Given the description of an element on the screen output the (x, y) to click on. 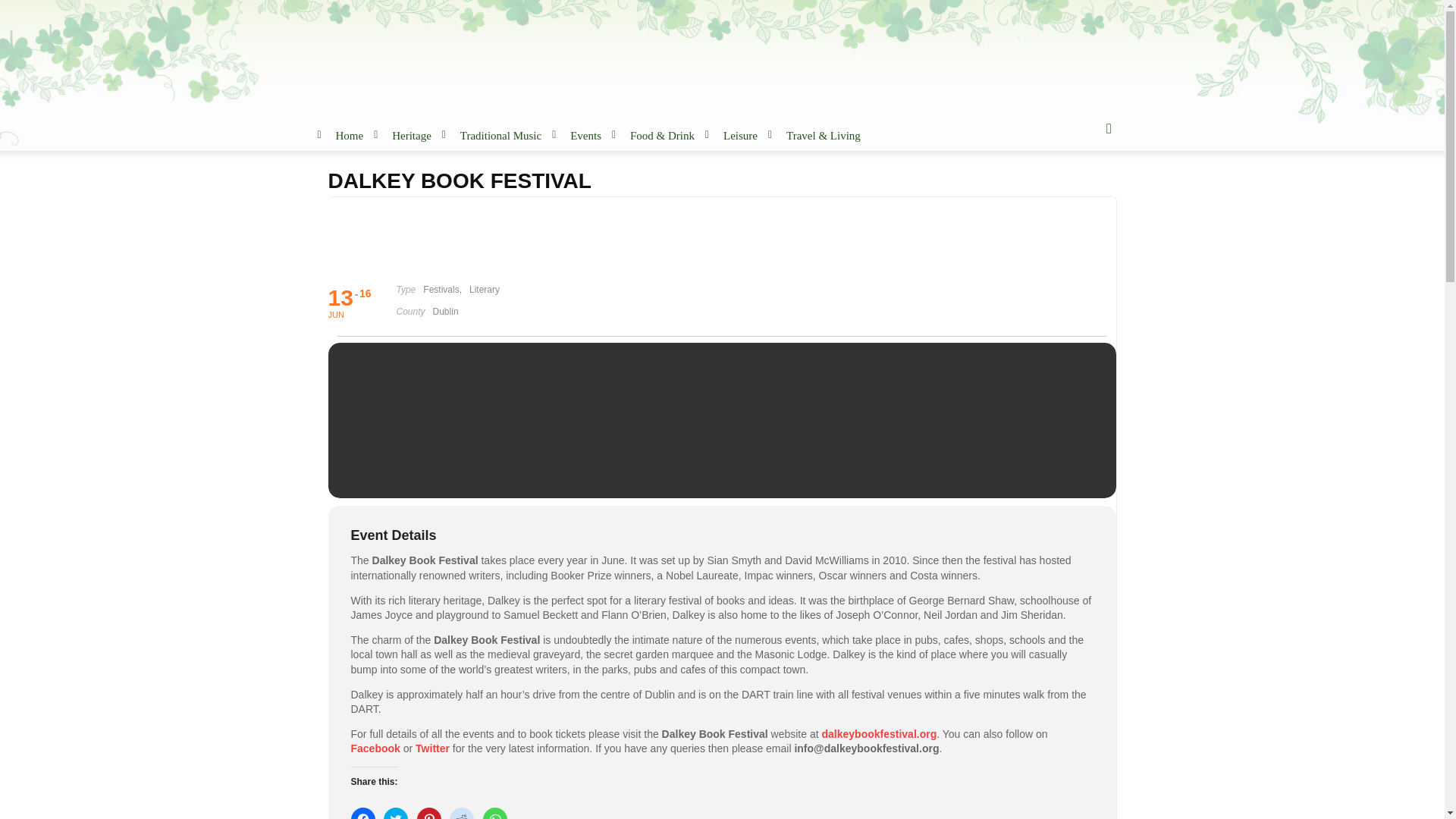
Click to share on Pinterest (428, 813)
Click to share on WhatsApp (494, 813)
Click to share on Reddit (461, 813)
Click to share on Twitter (395, 813)
The Irish Place (445, 55)
Click to share on Facebook (362, 813)
